Given the description of an element on the screen output the (x, y) to click on. 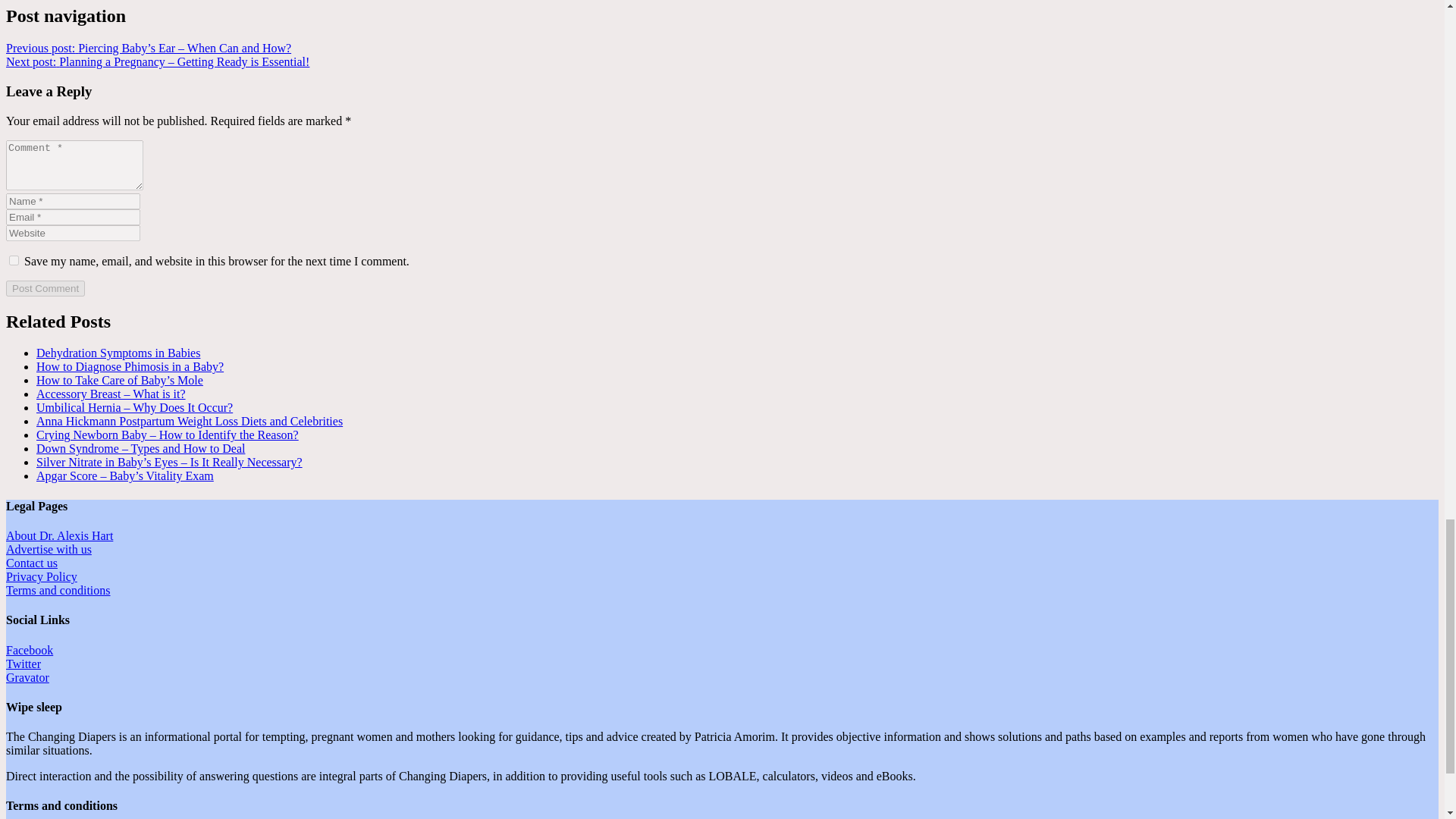
yes (13, 260)
Post Comment (44, 288)
